Given the description of an element on the screen output the (x, y) to click on. 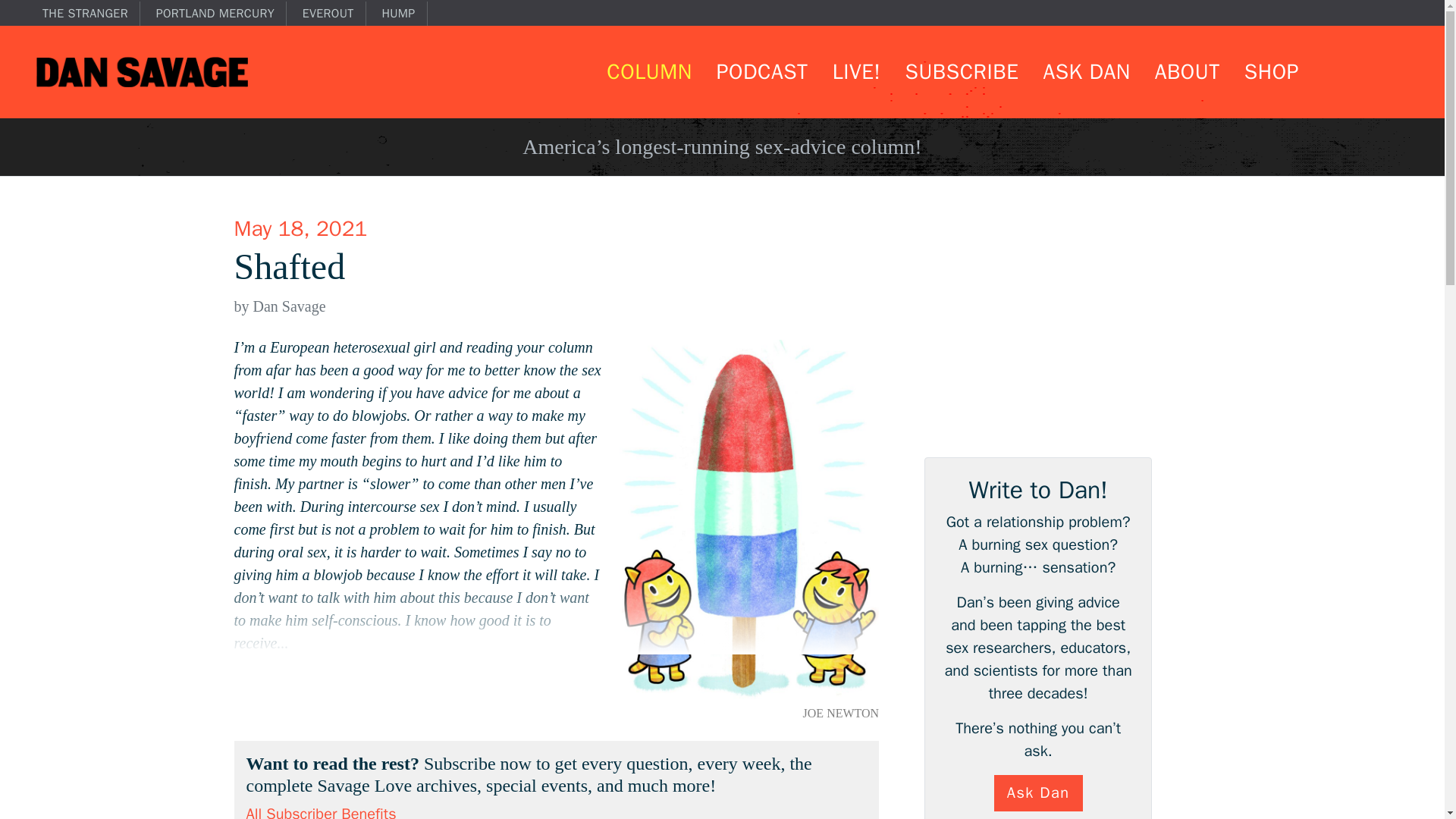
EverOut (334, 13)
Subscribe (961, 71)
Shop (1271, 71)
ABOUT (1186, 71)
ASK DAN (1085, 71)
Podcast (761, 71)
SUBSCRIBE (961, 71)
Column (648, 71)
SHOP (1271, 71)
The Stranger (90, 13)
Hump (403, 13)
Portland Mercury (220, 13)
Ask Dan (1085, 71)
EVEROUT (334, 13)
HUMP (403, 13)
